Given the description of an element on the screen output the (x, y) to click on. 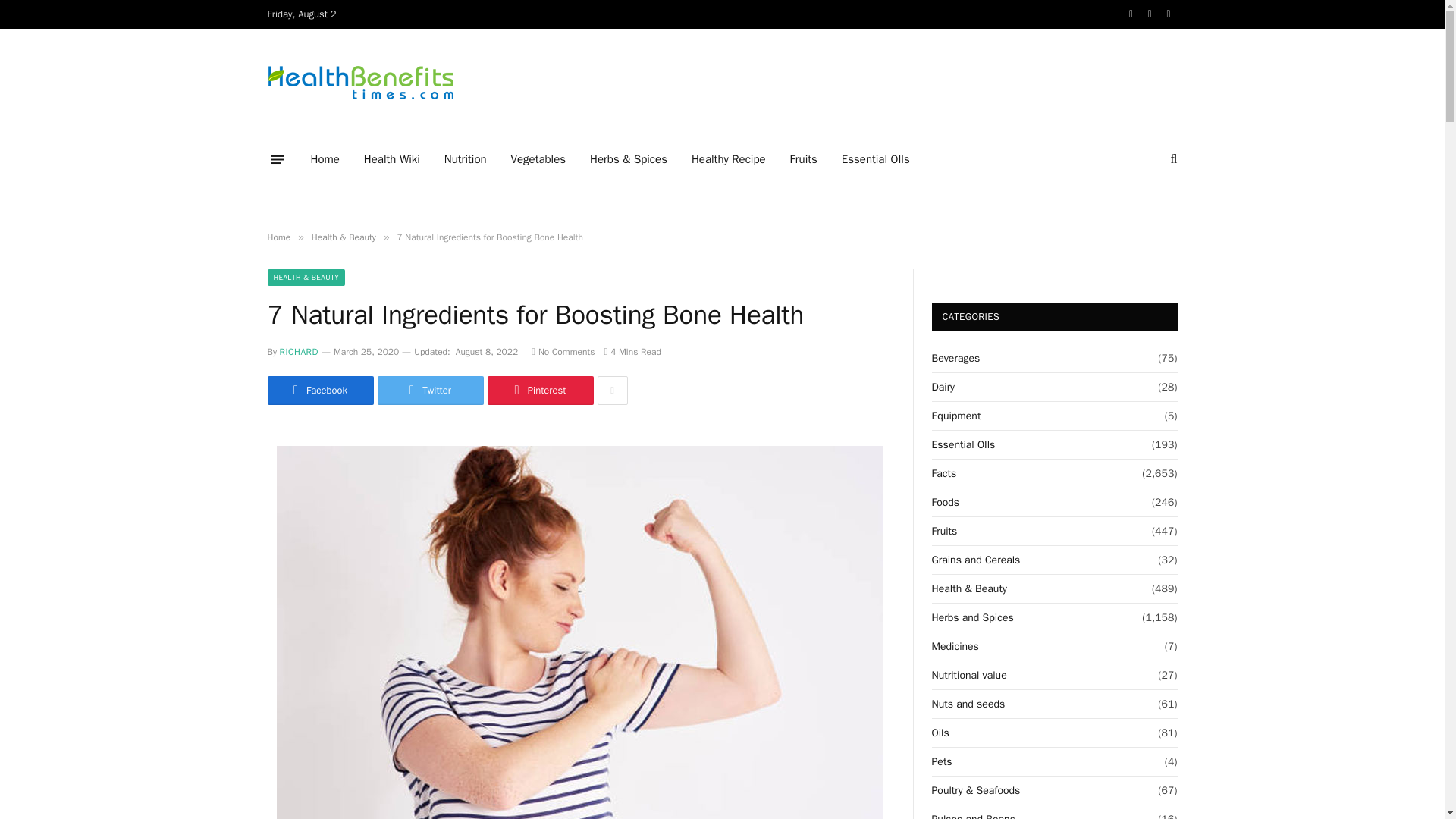
Healthy Recipe (728, 159)
No Comments (562, 351)
Facebook (319, 389)
Vegetables (538, 159)
Twitter (430, 389)
Pinterest (539, 389)
Fruits (803, 159)
Show More Social Sharing (611, 389)
Share on Twitter (430, 389)
Health Benefits (359, 83)
Health Wiki (392, 159)
Share on Facebook (319, 389)
Share on Pinterest (539, 389)
Home (277, 236)
Posts by Richard (298, 351)
